Given the description of an element on the screen output the (x, y) to click on. 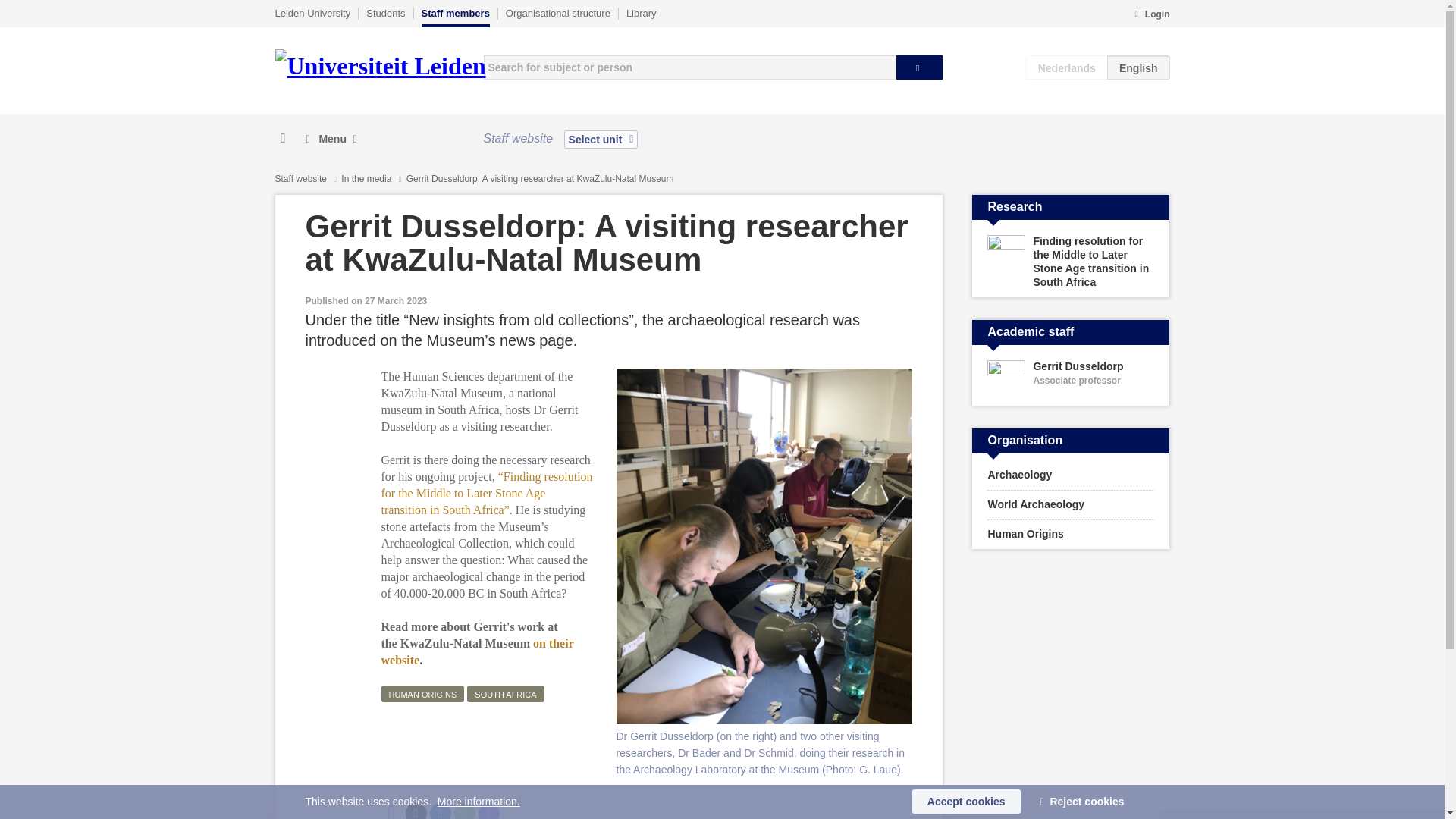
Library (641, 13)
Share on Facebook (390, 811)
Share on X (415, 811)
on their website (476, 651)
Organisational structure (557, 13)
In the media (366, 178)
Archaeology (1070, 475)
Login (1151, 14)
Staff website (1070, 378)
World Archaeology (300, 178)
Leiden University (1070, 504)
Menu (312, 13)
SOUTH AFRICA (330, 139)
